Given the description of an element on the screen output the (x, y) to click on. 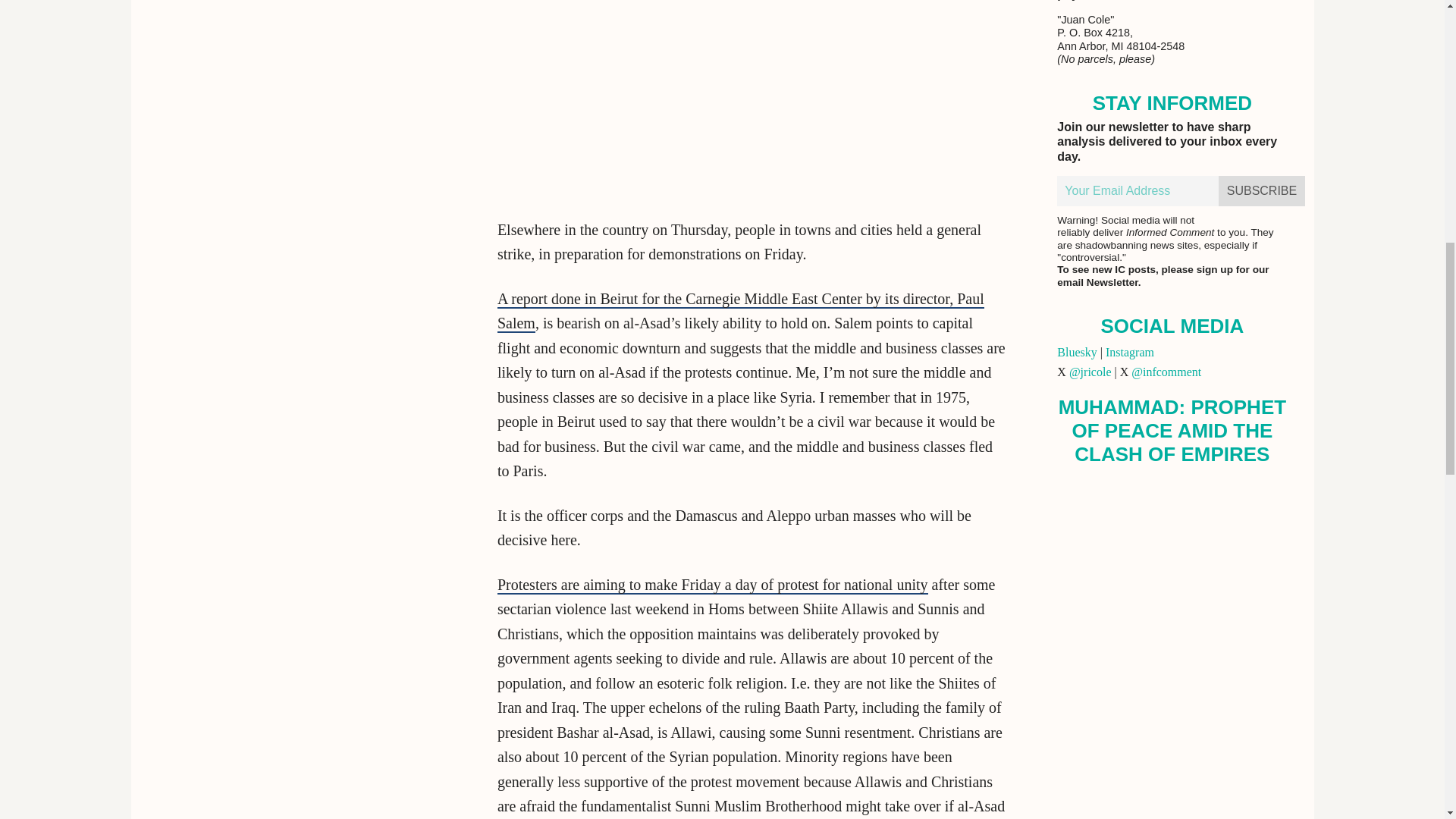
subscribe (1262, 191)
